Given the description of an element on the screen output the (x, y) to click on. 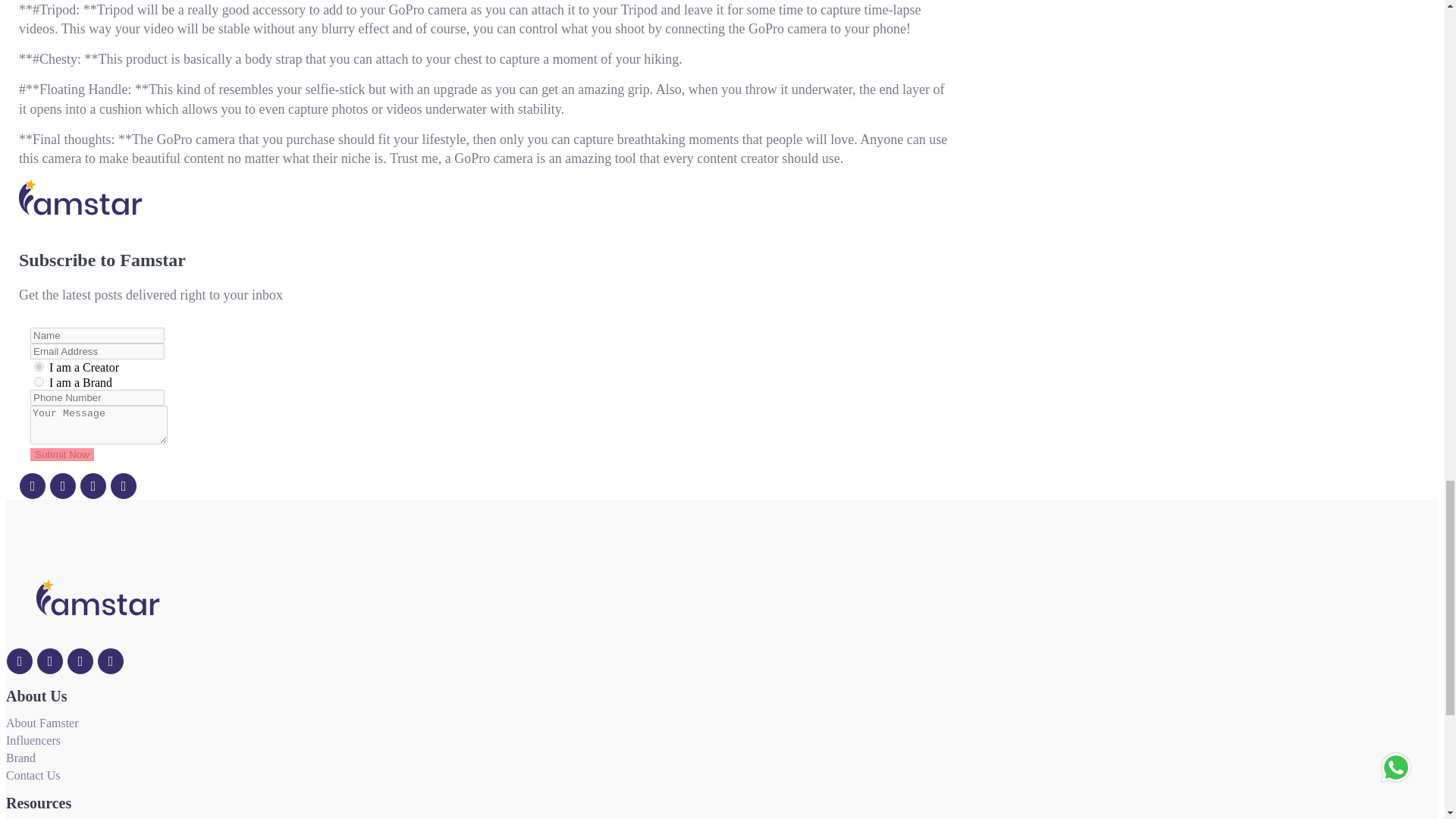
Influencer (38, 366)
Brand (38, 381)
Contact Us (33, 775)
Submit Now (62, 454)
Submit Now (62, 454)
Brand (19, 757)
About Famster (41, 722)
Influencers (33, 739)
